Given the description of an element on the screen output the (x, y) to click on. 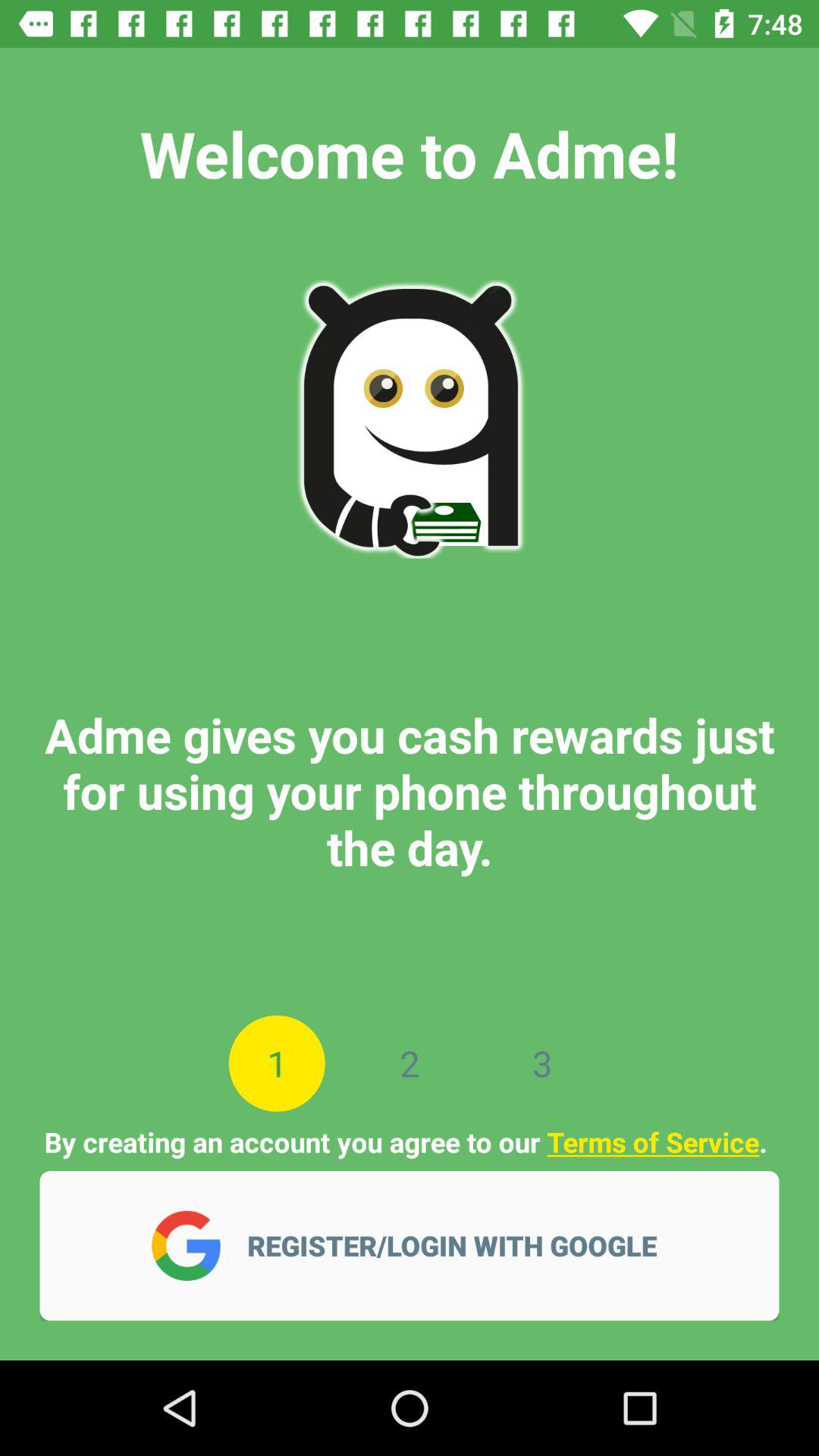
swipe to the register login with (461, 1245)
